Given the description of an element on the screen output the (x, y) to click on. 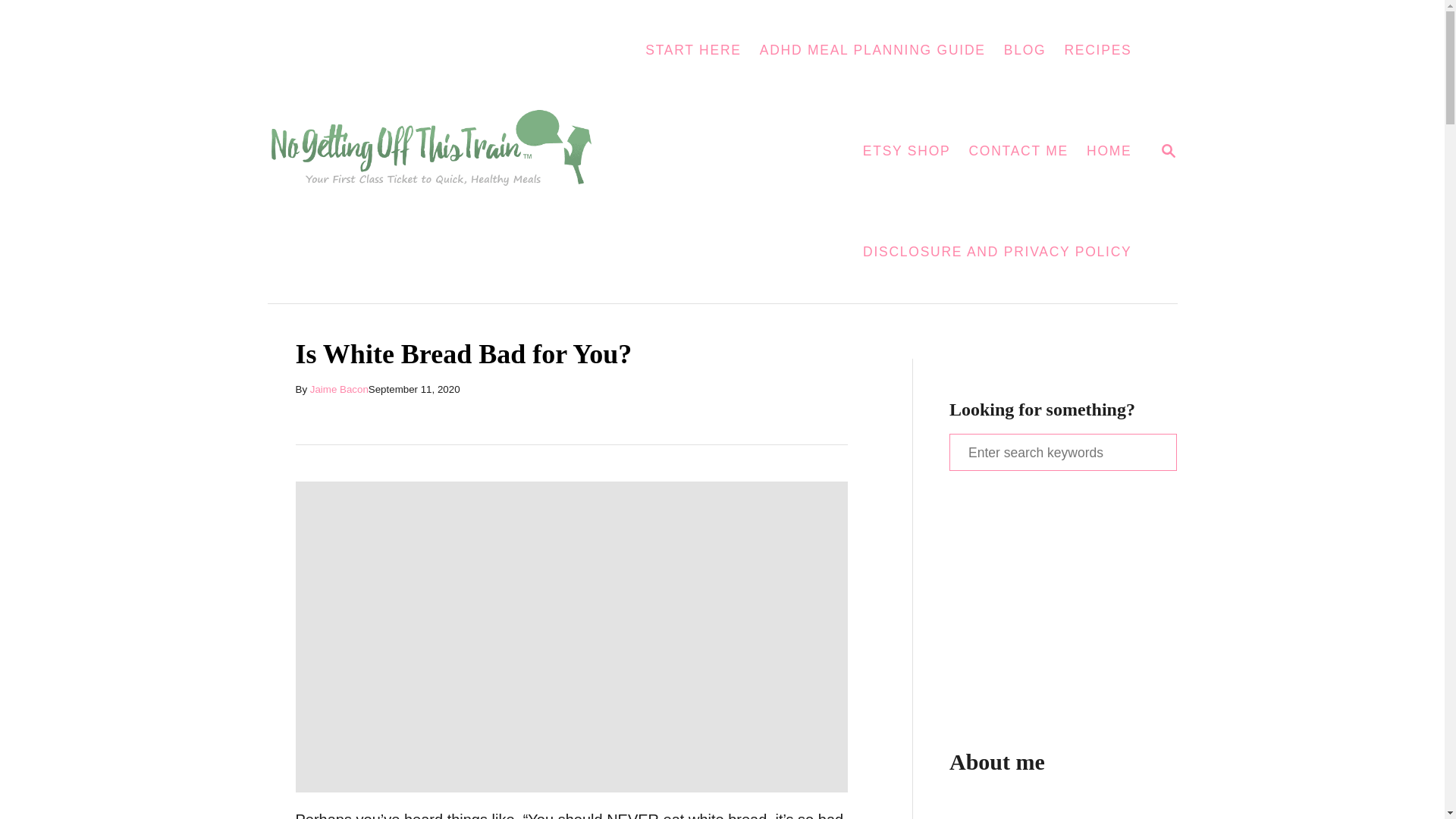
RECIPES (1097, 50)
CONTACT ME (1018, 151)
No Getting Off This Train (439, 151)
Search for: (1062, 452)
HOME (1109, 151)
Search (22, 22)
START HERE (692, 50)
MAGNIFYING GLASS (1167, 150)
BLOG (1167, 149)
